Given the description of an element on the screen output the (x, y) to click on. 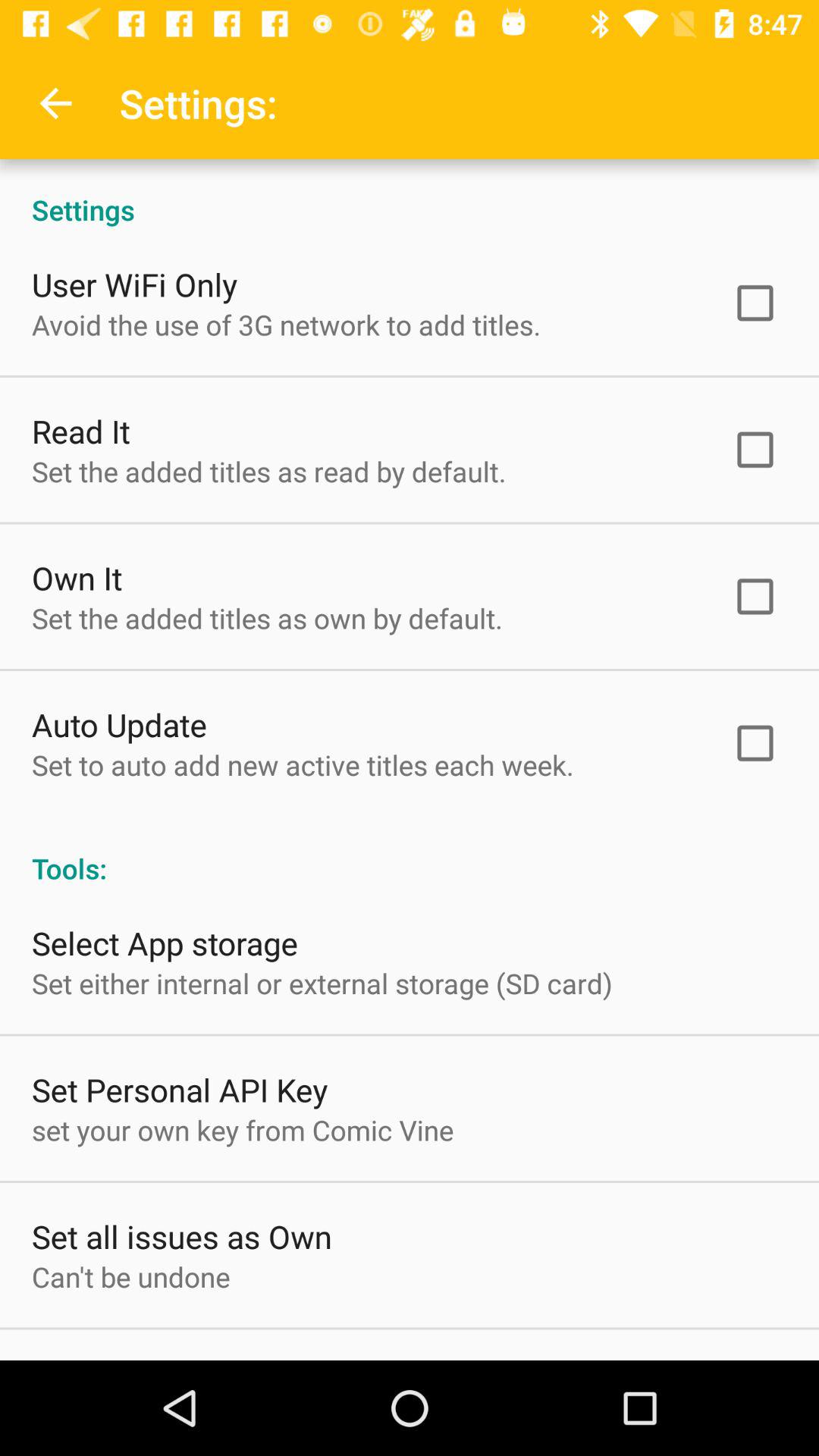
turn off the icon above settings item (55, 103)
